Given the description of an element on the screen output the (x, y) to click on. 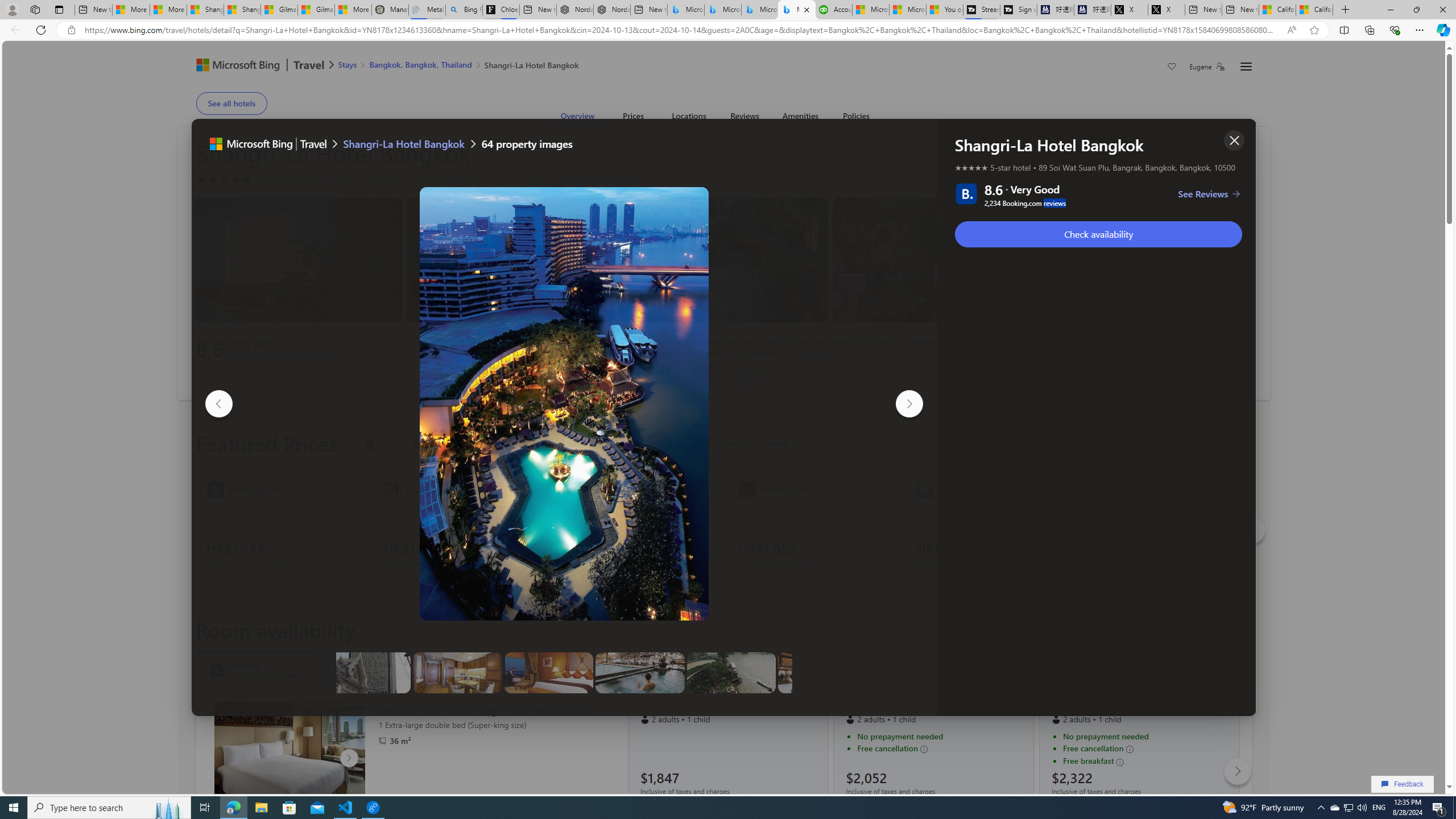
App bar (728, 29)
Microsoft Start Sports (870, 9)
Manatee Mortality Statistics | FWC (389, 9)
Nordace - #1 Japanese Best-Seller - Siena Smart Backpack (611, 9)
Address and search bar (680, 29)
Chloe Sorvino (500, 9)
